Given the description of an element on the screen output the (x, y) to click on. 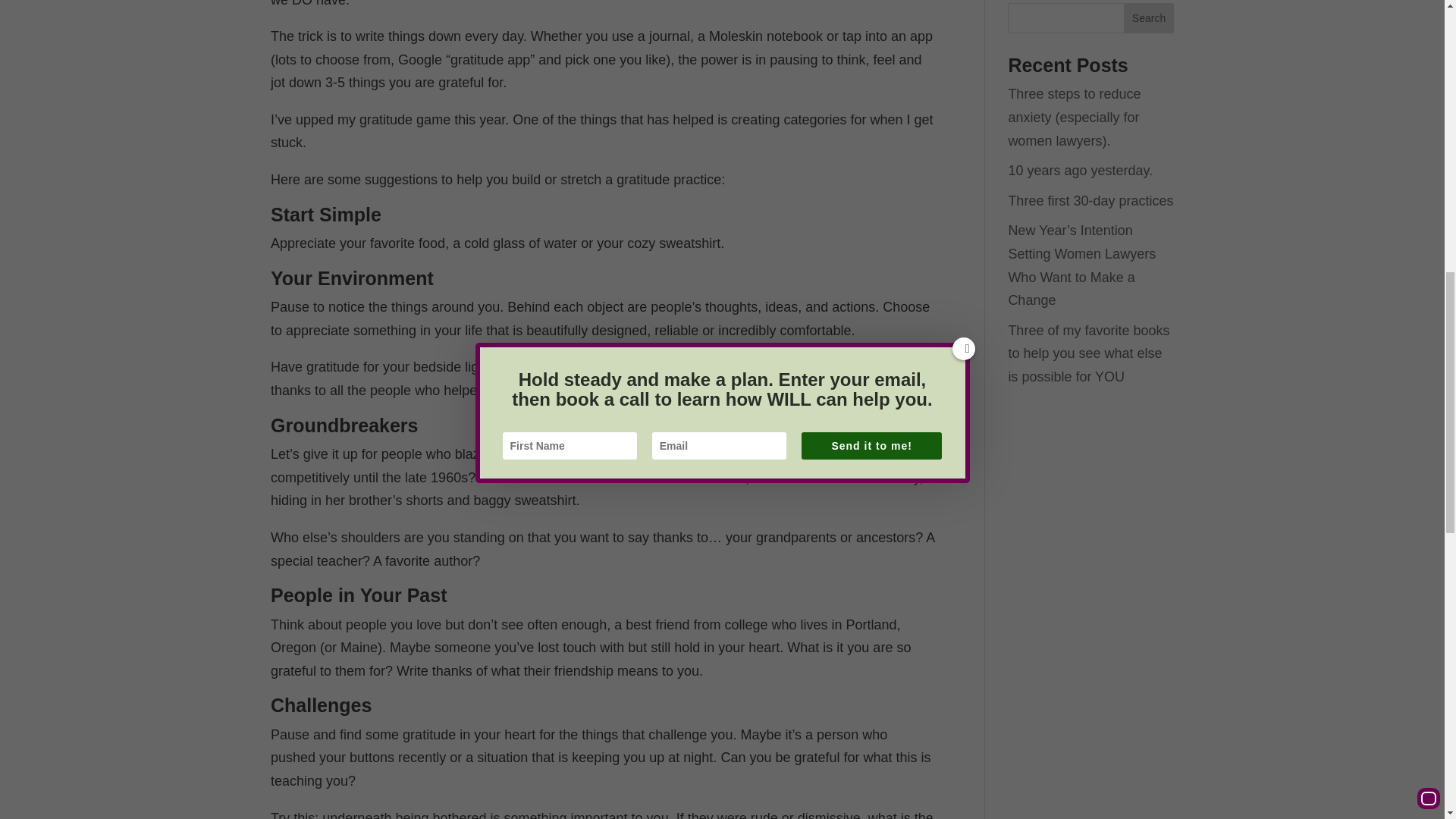
Search (1148, 18)
Search (1148, 18)
10 years ago yesterday. (1080, 170)
Three first 30-day practices (1090, 200)
